Given the description of an element on the screen output the (x, y) to click on. 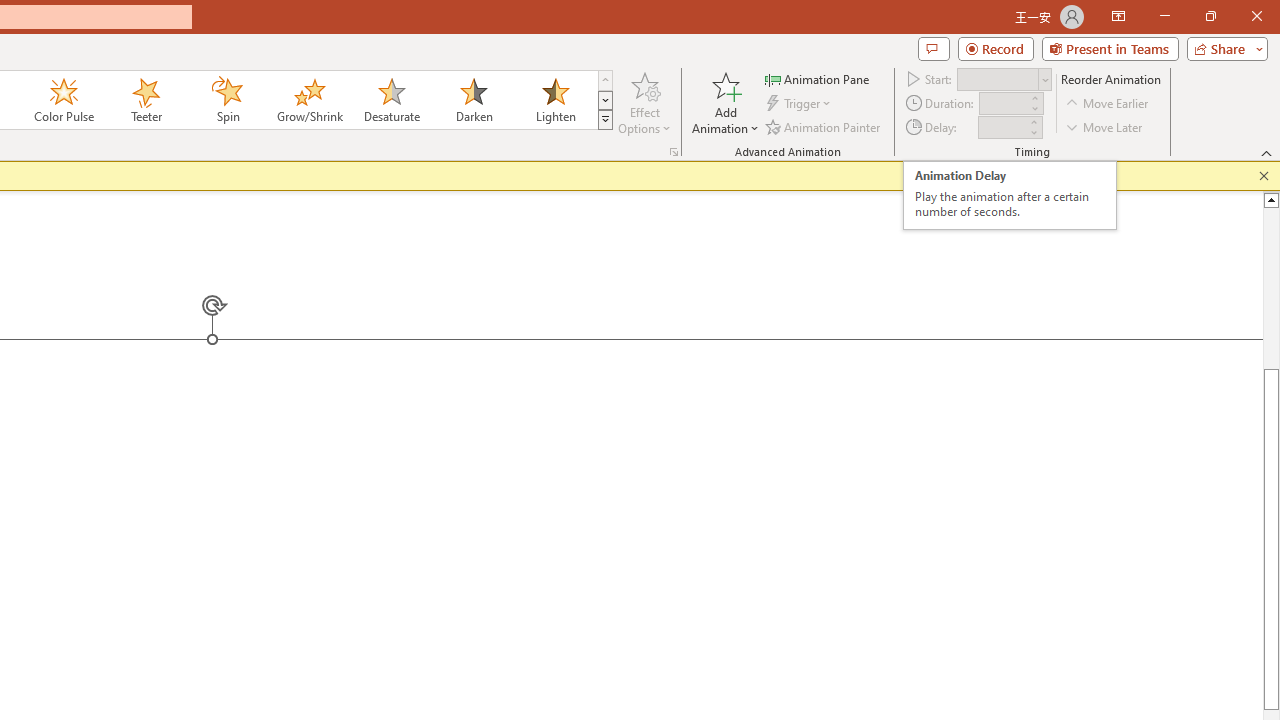
Desaturate (391, 100)
Move Later (1105, 126)
Darken (473, 100)
Spin (227, 100)
Trigger (799, 103)
Animation Painter (824, 126)
More (1033, 121)
Animation Duration (1003, 103)
Teeter (145, 100)
